Given the description of an element on the screen output the (x, y) to click on. 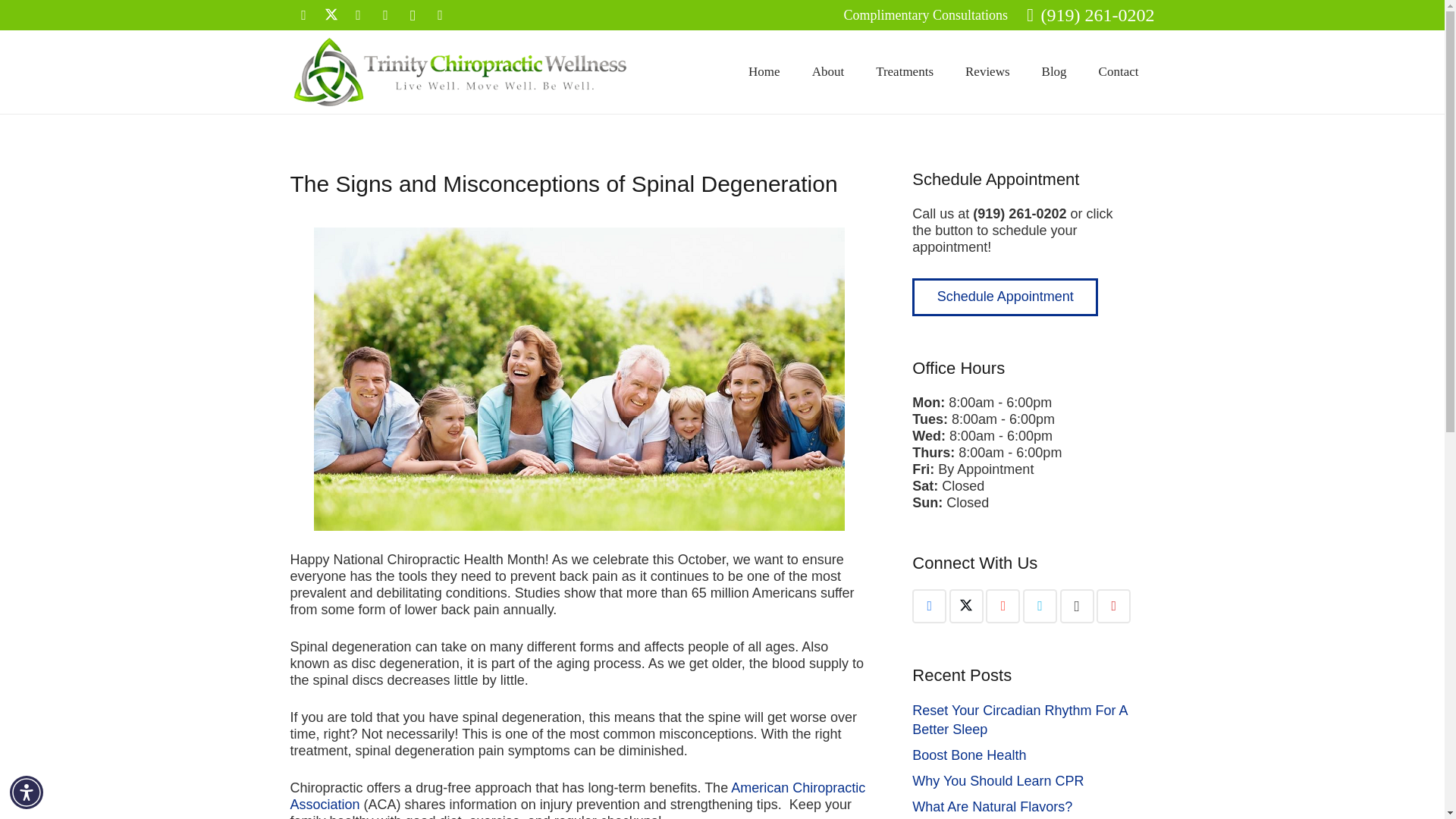
Yelp (439, 14)
Twitter (966, 605)
Instagram (412, 14)
Yelp (1113, 605)
Boost Bone Health (969, 754)
Facebook (929, 605)
Schedule Appointment (1004, 297)
Google (1002, 605)
American Chiropractic Association (576, 796)
Vimeo (1040, 605)
Reset Your Circadian Rhythm For A Better Sleep (1019, 719)
Accessibility Menu (26, 792)
Vimeo (384, 14)
Instagram (1076, 605)
Google (357, 14)
